Given the description of an element on the screen output the (x, y) to click on. 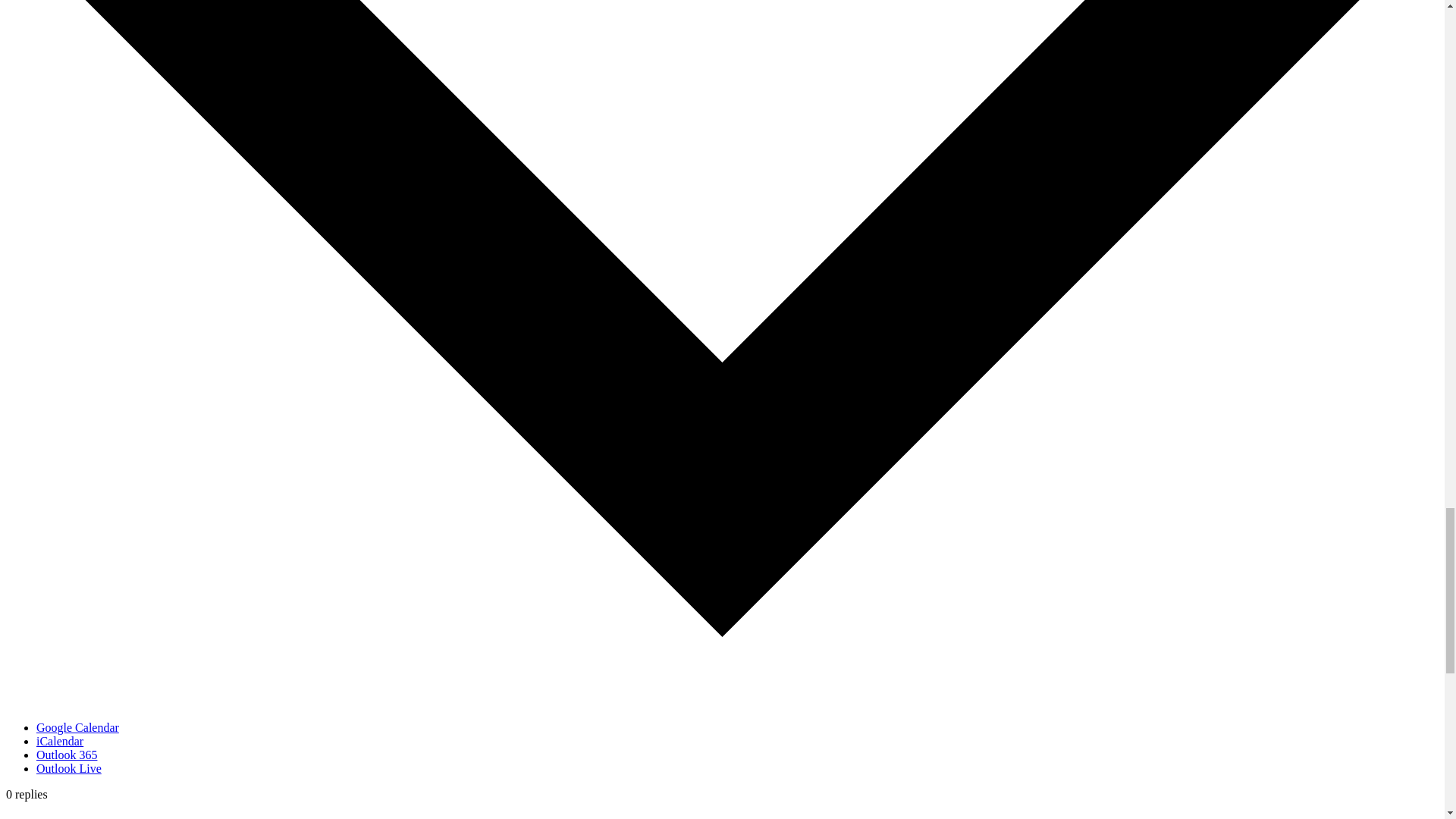
Google Calendar (77, 727)
Outlook 365 (66, 754)
Outlook Live (68, 768)
iCalendar (59, 740)
